Given the description of an element on the screen output the (x, y) to click on. 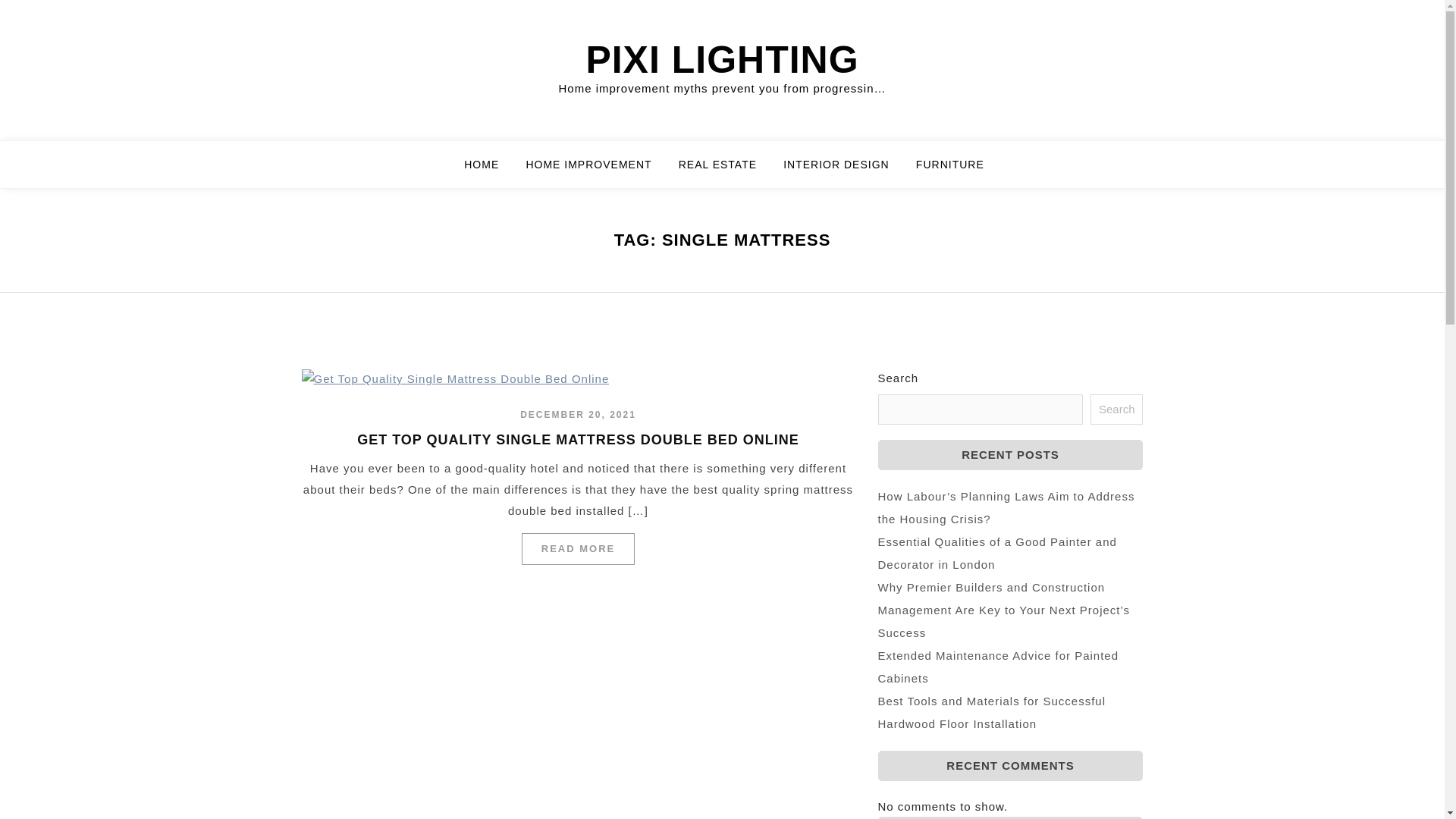
HOME IMPROVEMENT (597, 171)
REAL ESTATE (727, 171)
Search (1116, 409)
DECEMBER 20, 2021 (577, 414)
Extended Maintenance Advice for Painted Cabinets (998, 666)
READ MORE (577, 549)
HOME (491, 171)
INTERIOR DESIGN (845, 171)
